Given the description of an element on the screen output the (x, y) to click on. 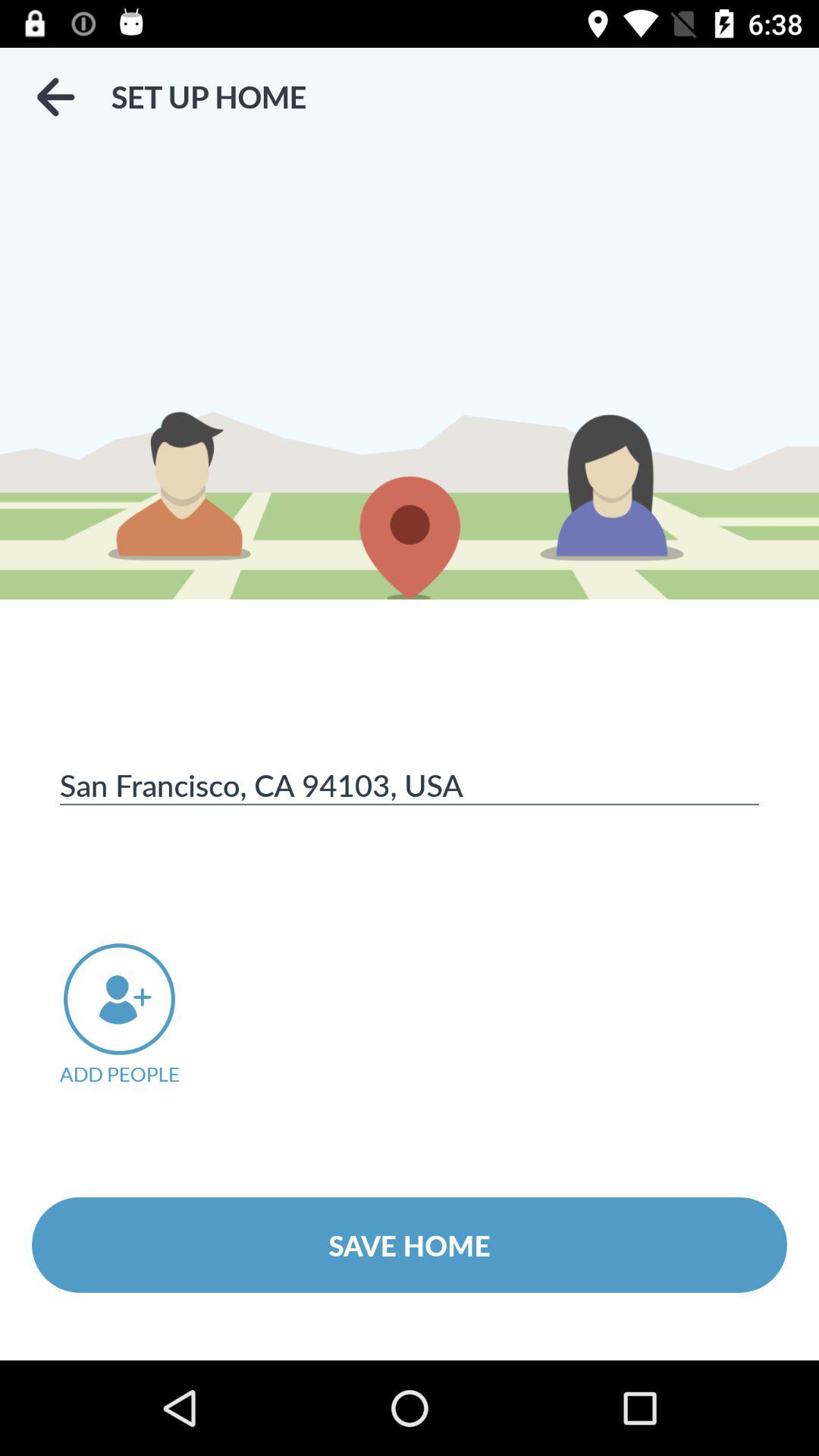
select the item below the san francisco ca item (140, 1014)
